Given the description of an element on the screen output the (x, y) to click on. 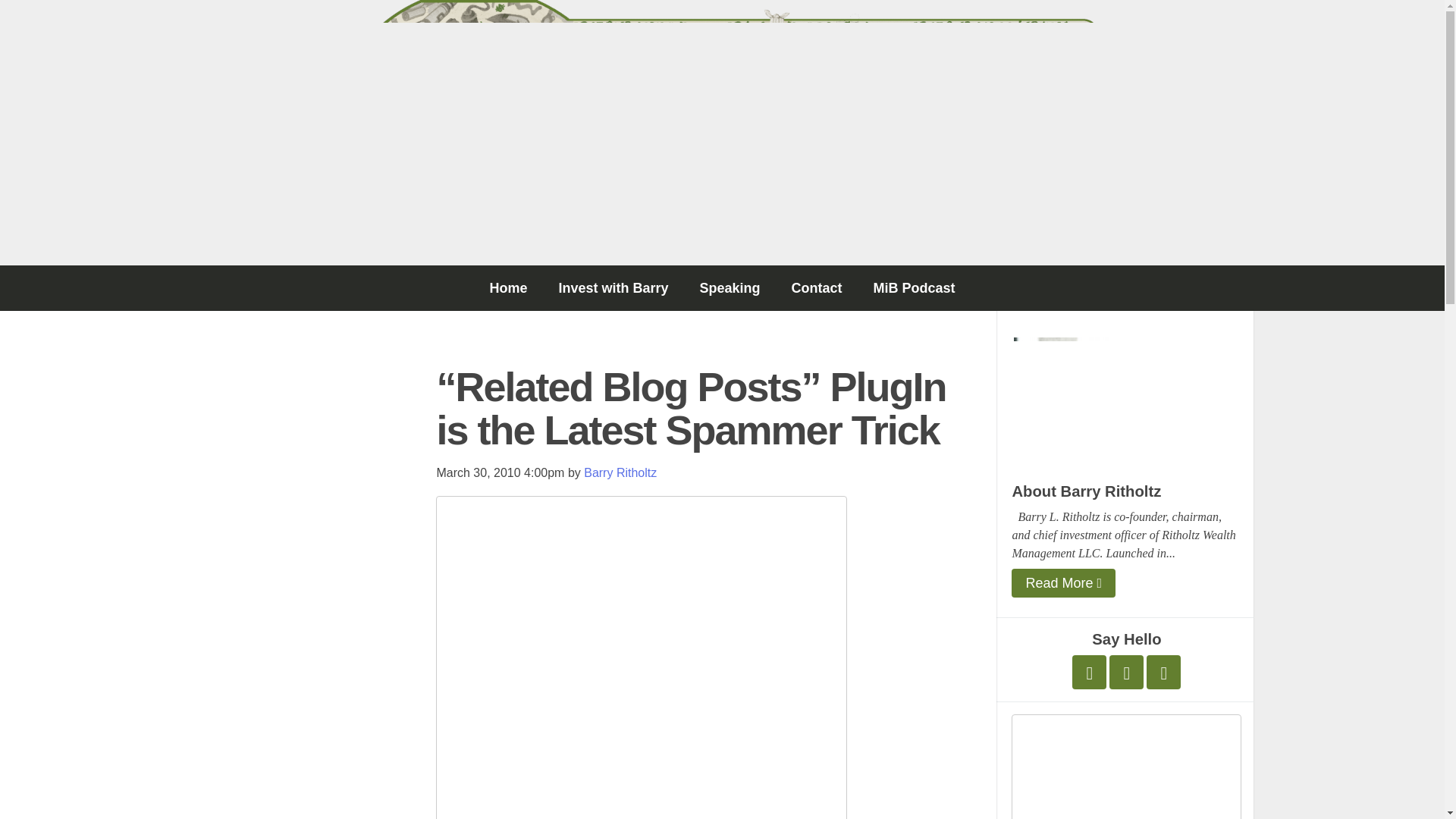
Read More (1063, 582)
MiB Podcast (914, 288)
Speaking (729, 288)
Barry Ritholtz (619, 472)
Contact (816, 288)
spam plug in spike (641, 657)
Twitter (1088, 672)
Invest with Barry (612, 288)
Home (508, 288)
Facebook (1125, 672)
LinkedIn (1163, 672)
Posts by Barry Ritholtz (619, 472)
